Given the description of an element on the screen output the (x, y) to click on. 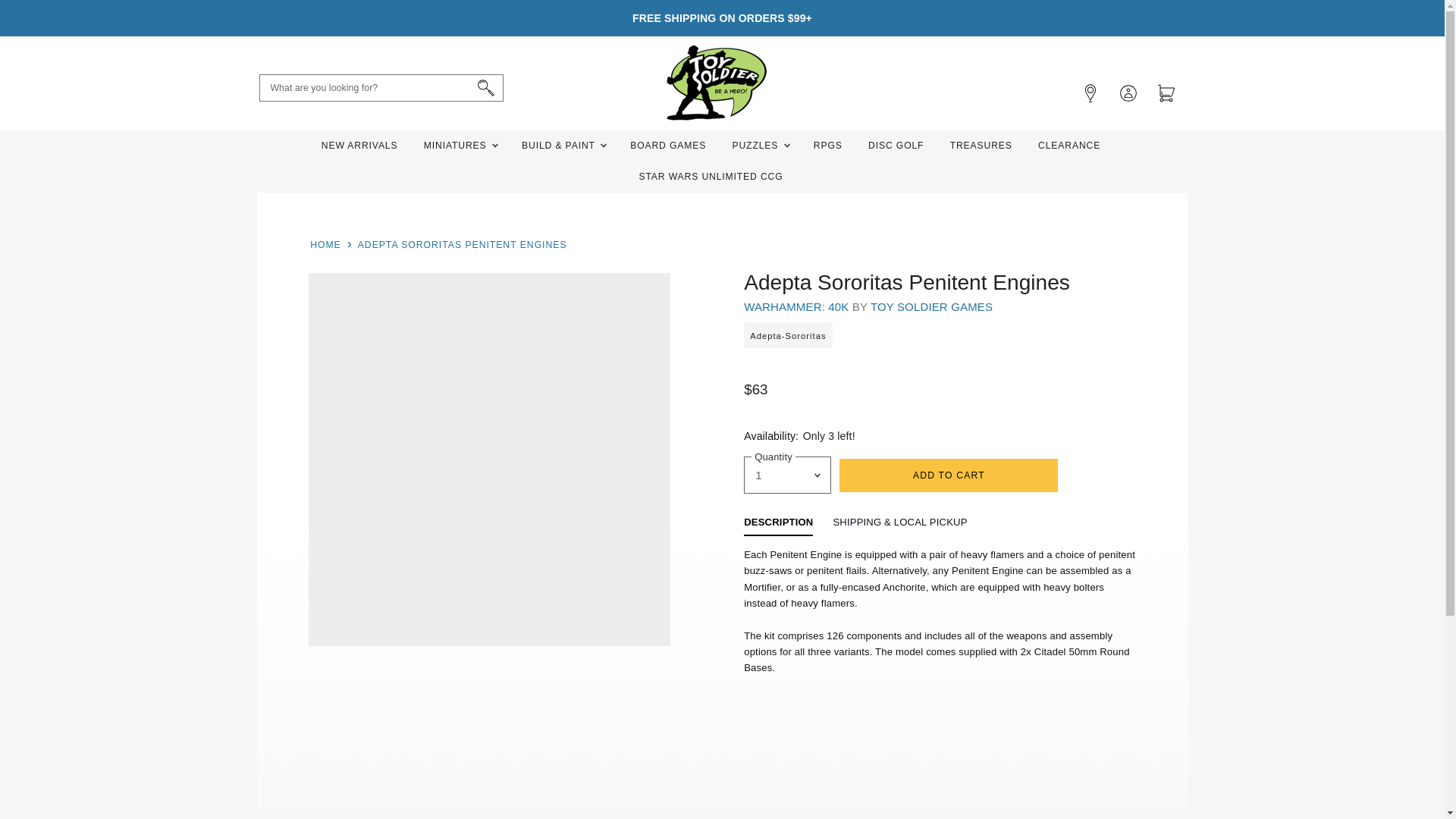
View account (1127, 91)
MINIATURES (459, 145)
View account (1089, 91)
View cart (1166, 91)
Toy Soldier Games (931, 306)
NEW ARRIVALS (359, 145)
